Given the description of an element on the screen output the (x, y) to click on. 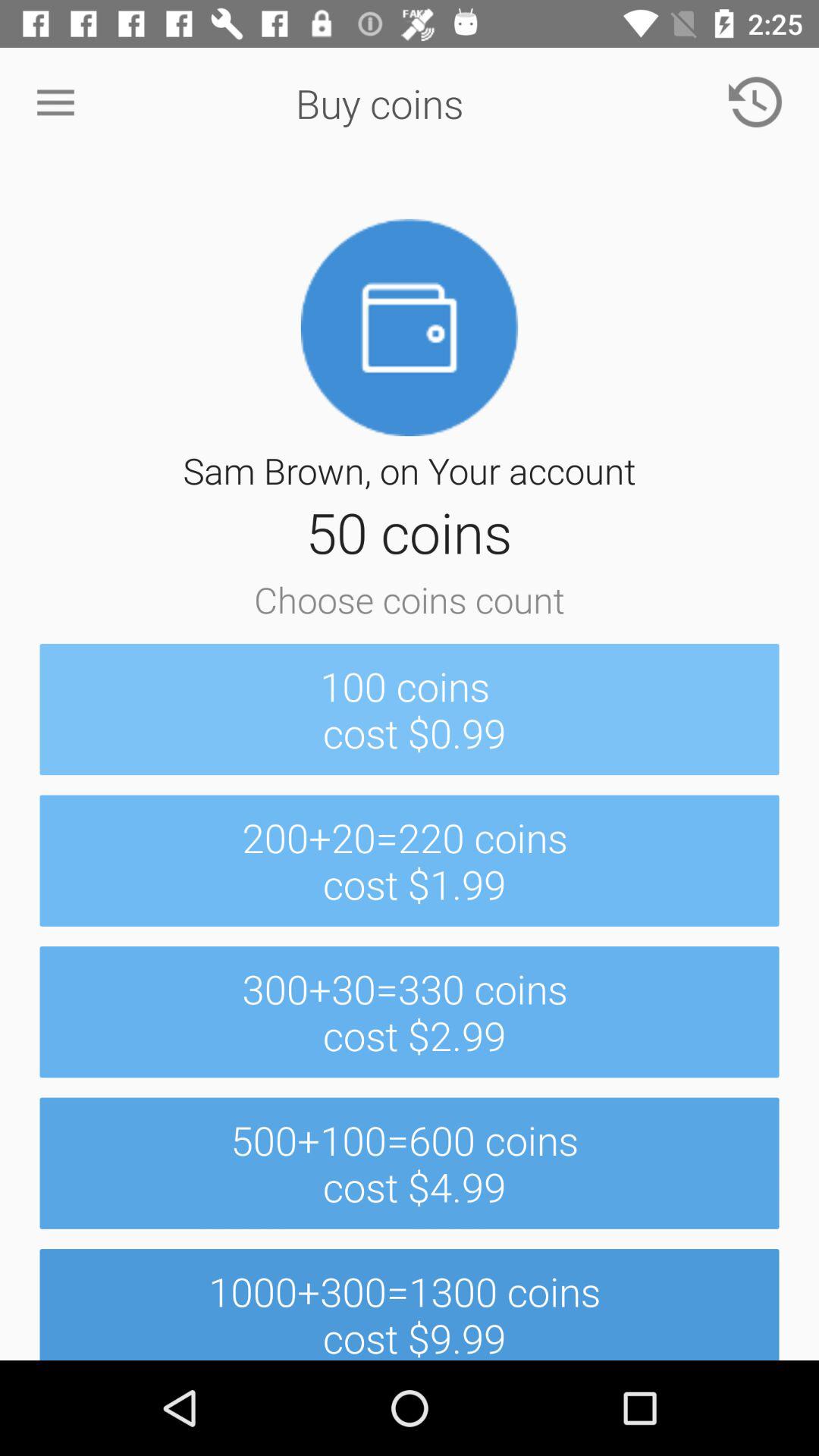
select item at the top left corner (55, 103)
